Given the description of an element on the screen output the (x, y) to click on. 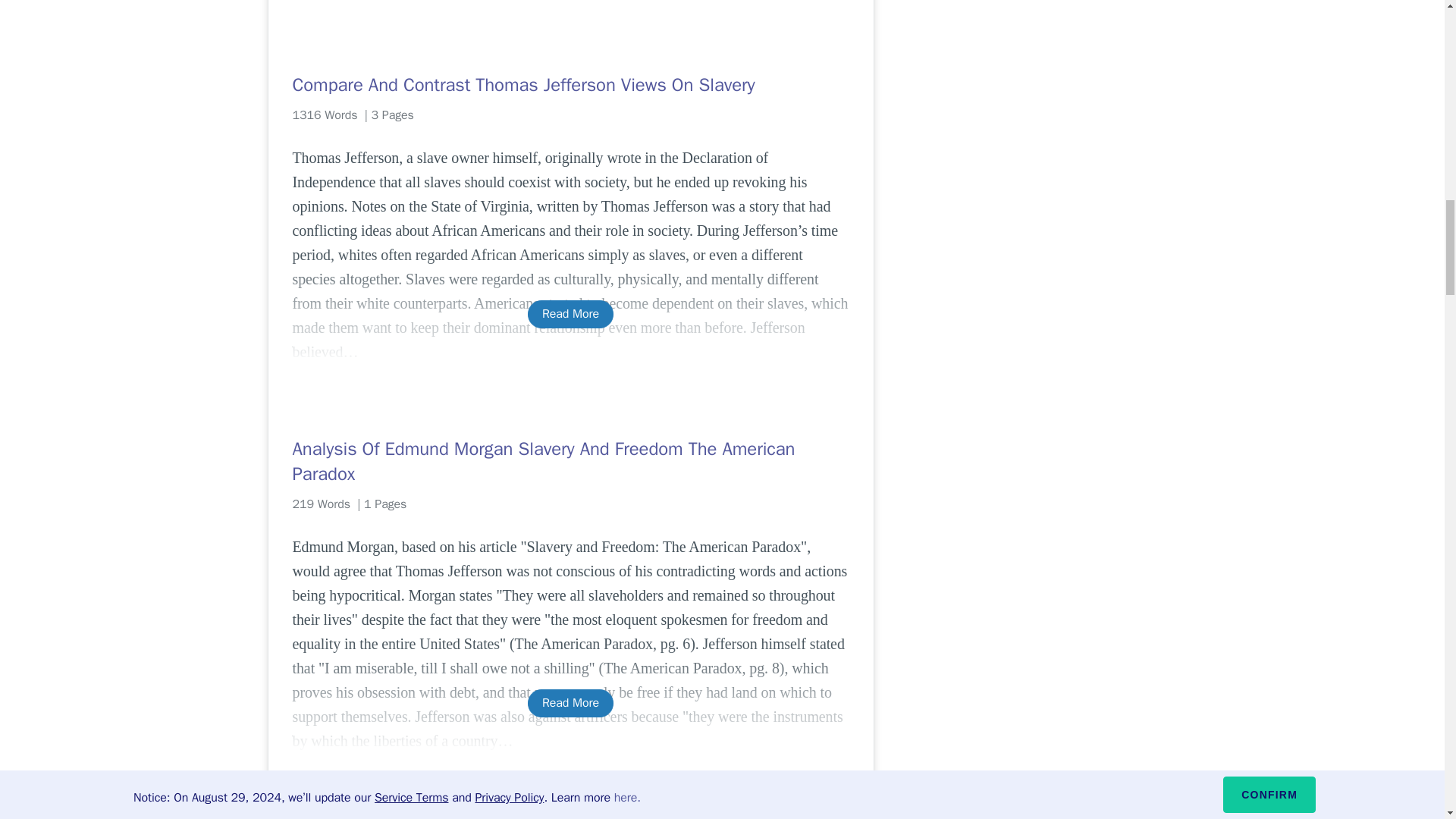
Compare And Contrast Thomas Jefferson Views On Slavery (570, 84)
Read More (569, 314)
Read More (569, 703)
